Given the description of an element on the screen output the (x, y) to click on. 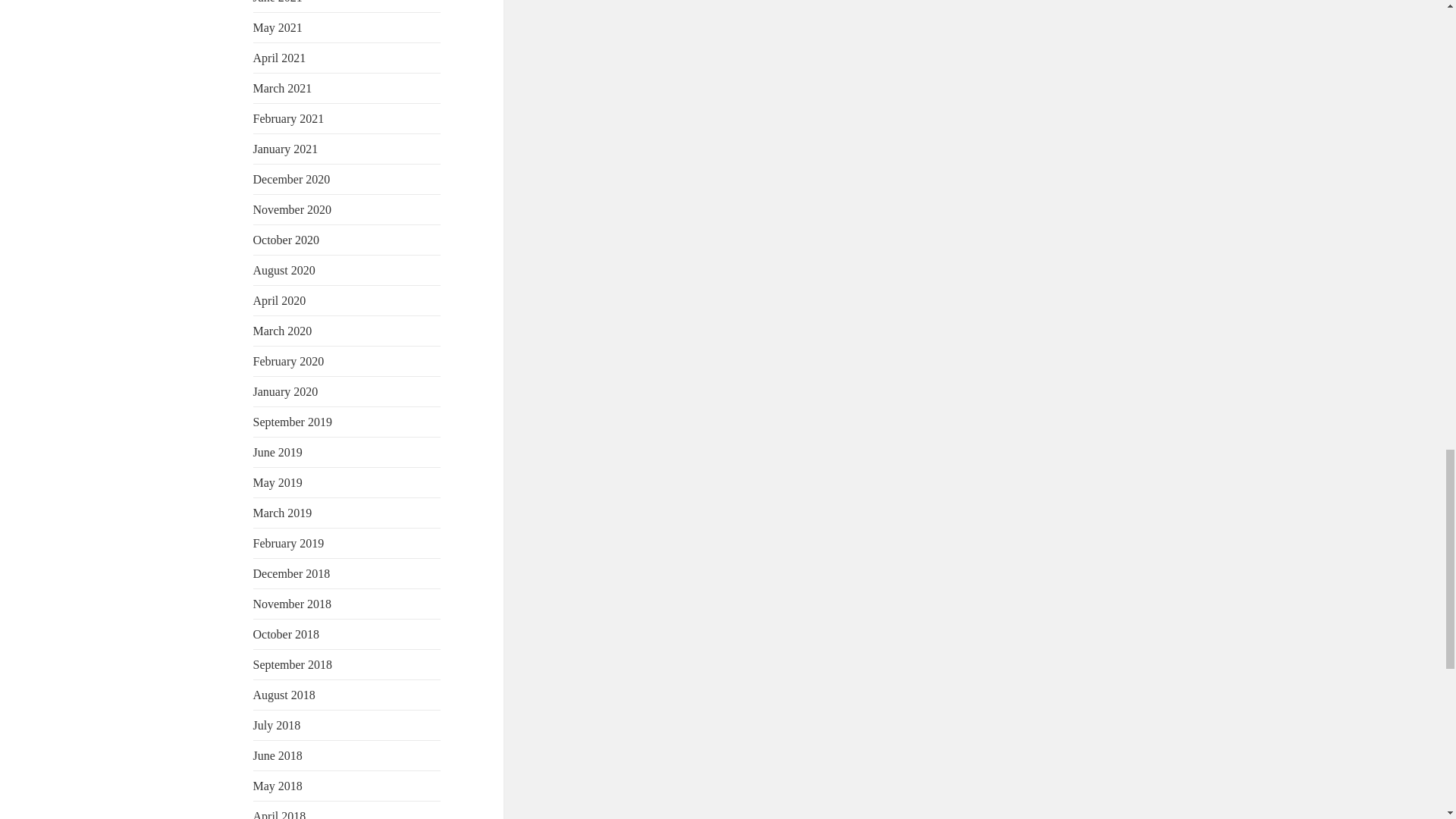
April 2021 (279, 57)
March 2021 (283, 88)
February 2021 (288, 118)
May 2021 (277, 27)
June 2021 (277, 2)
